Given the description of an element on the screen output the (x, y) to click on. 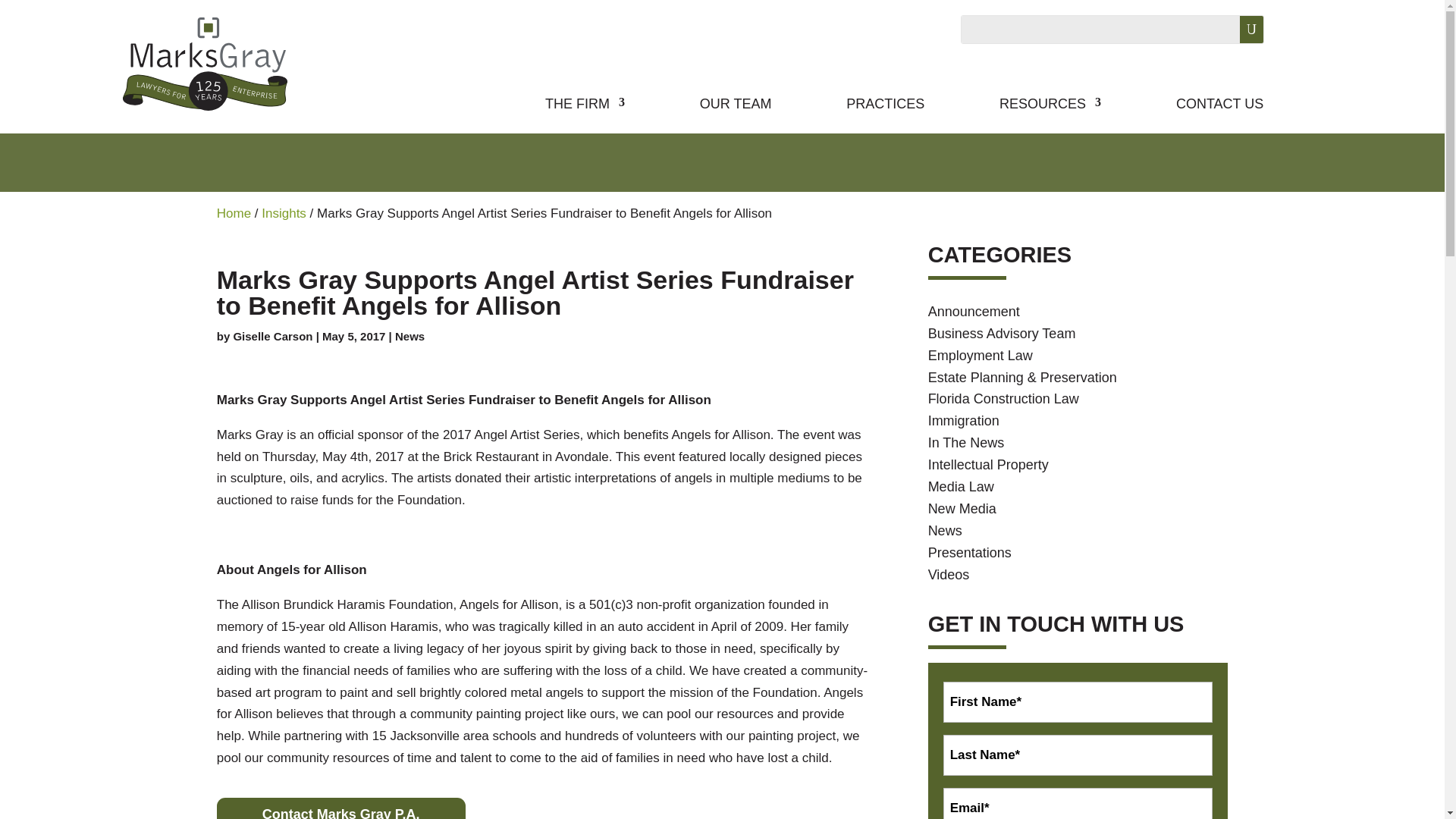
Search (1238, 29)
Posts by Giselle Carson (272, 336)
Search (1238, 29)
